Given the description of an element on the screen output the (x, y) to click on. 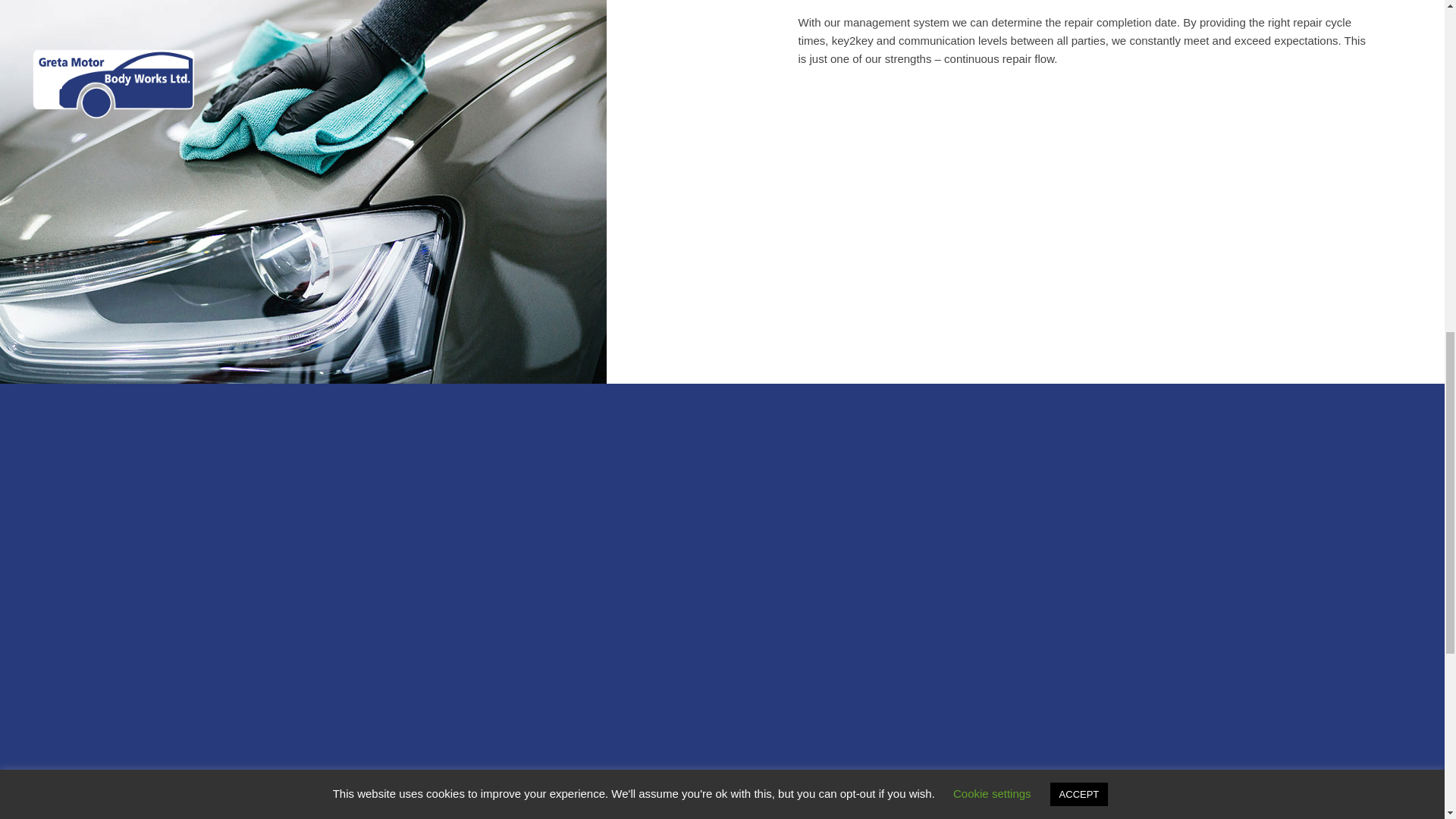
Send (1083, 727)
